Given the description of an element on the screen output the (x, y) to click on. 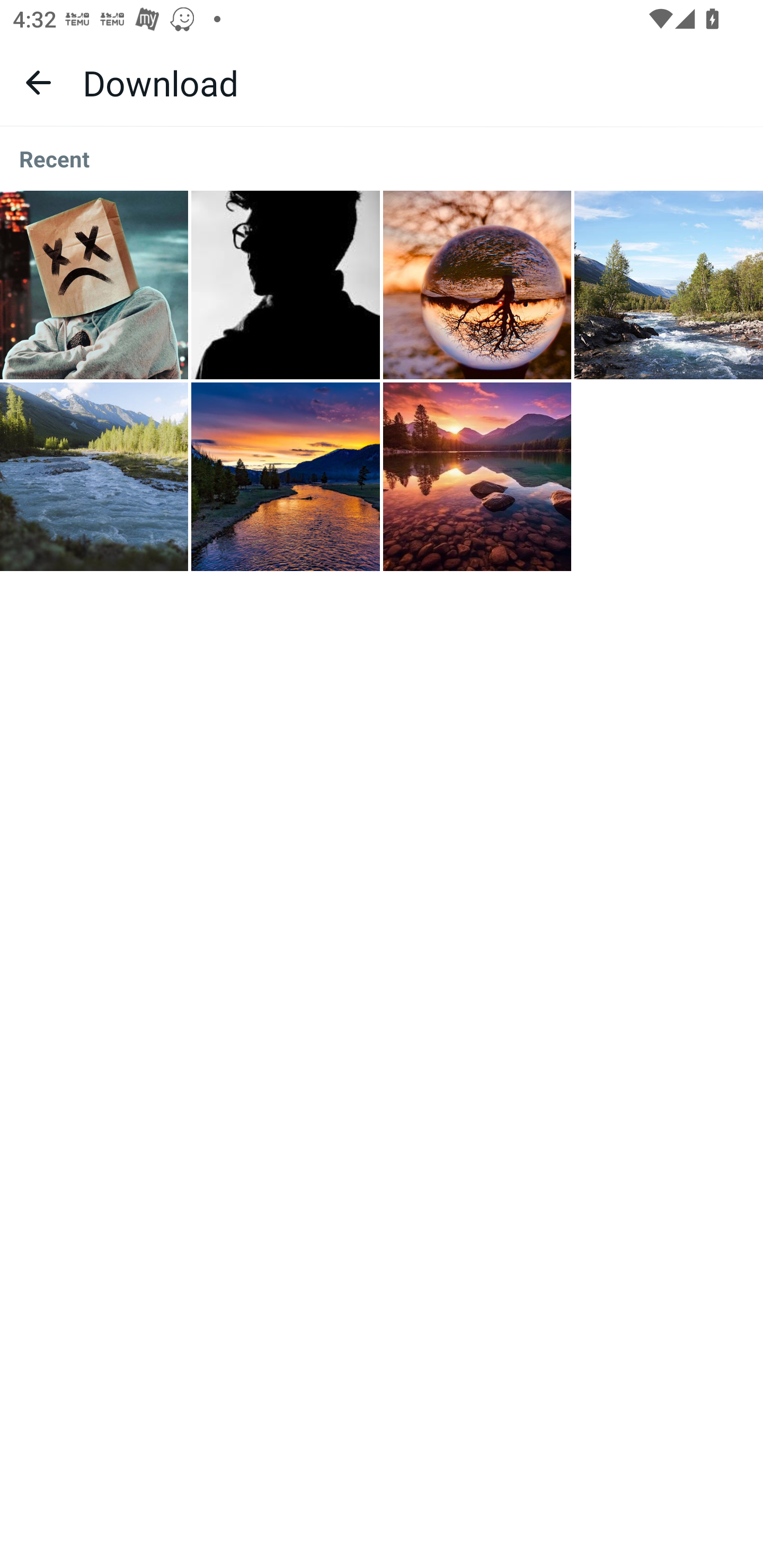
Navigate up (38, 82)
Recent (381, 159)
Photo (94, 285)
Photo (285, 285)
Photo (477, 285)
Photo (668, 285)
Photo (94, 476)
Photo (285, 476)
Photo (477, 476)
